Given the description of an element on the screen output the (x, y) to click on. 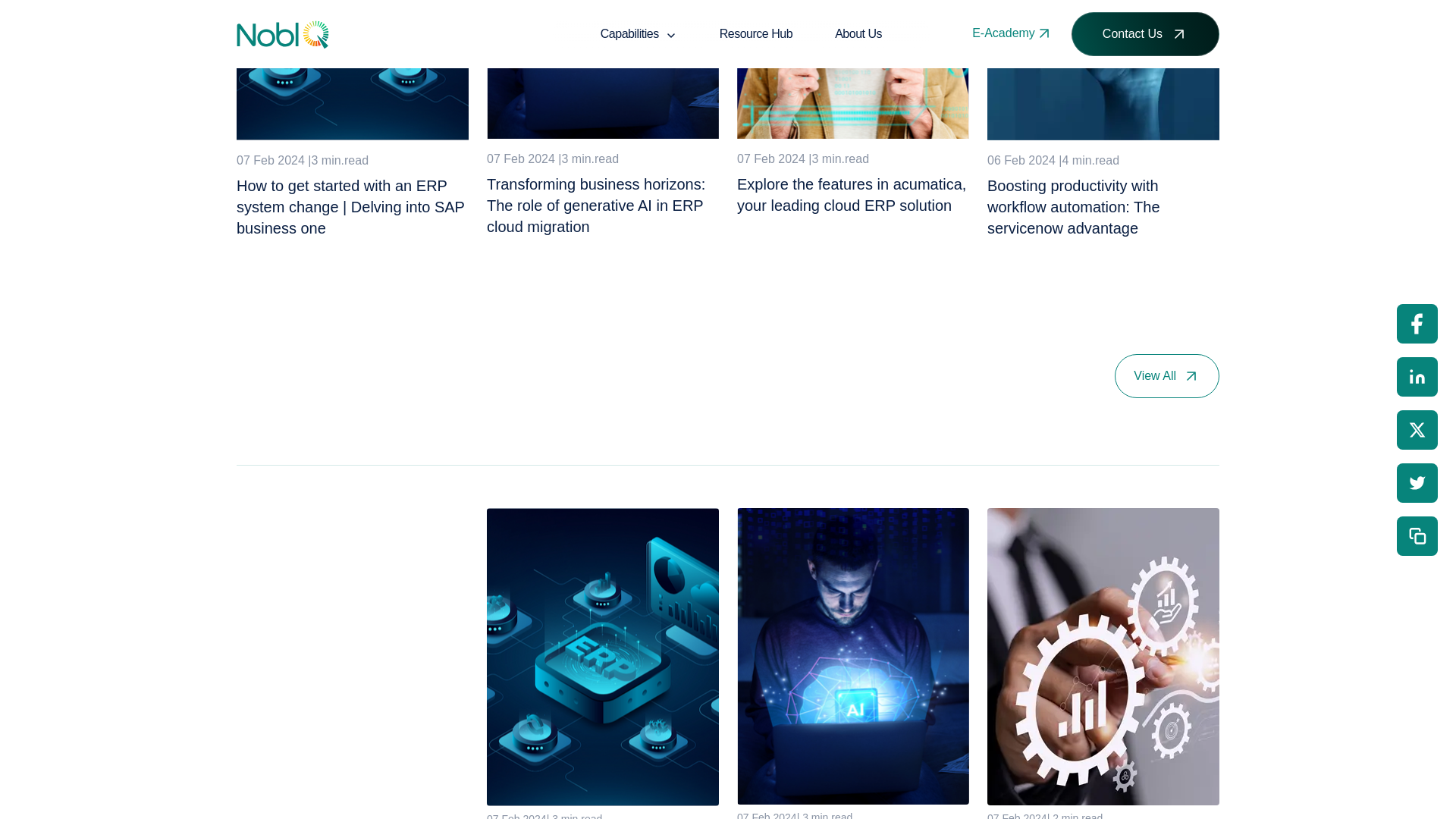
View All (1167, 375)
